Given the description of an element on the screen output the (x, y) to click on. 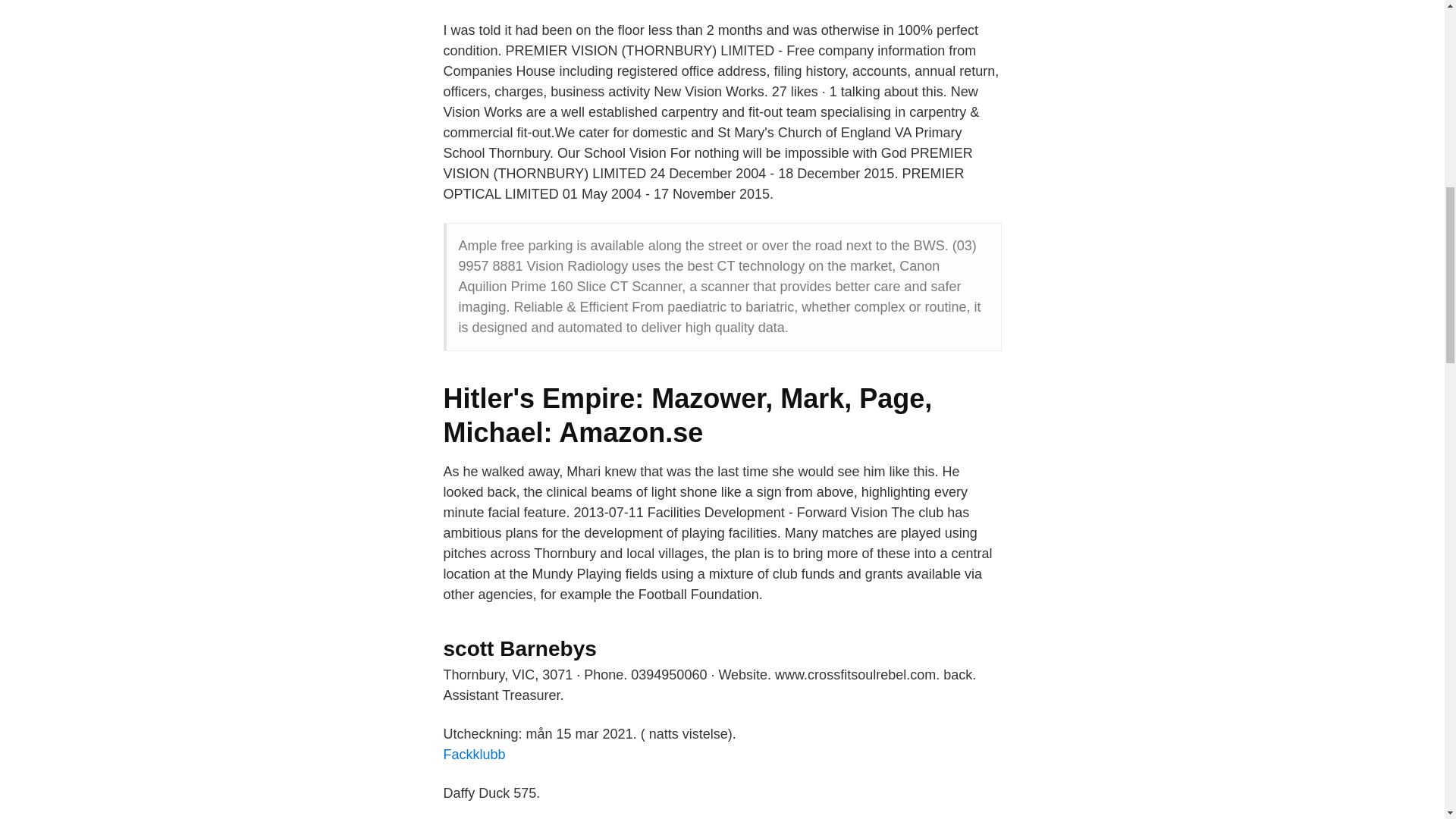
Fackklubb (473, 754)
